Given the description of an element on the screen output the (x, y) to click on. 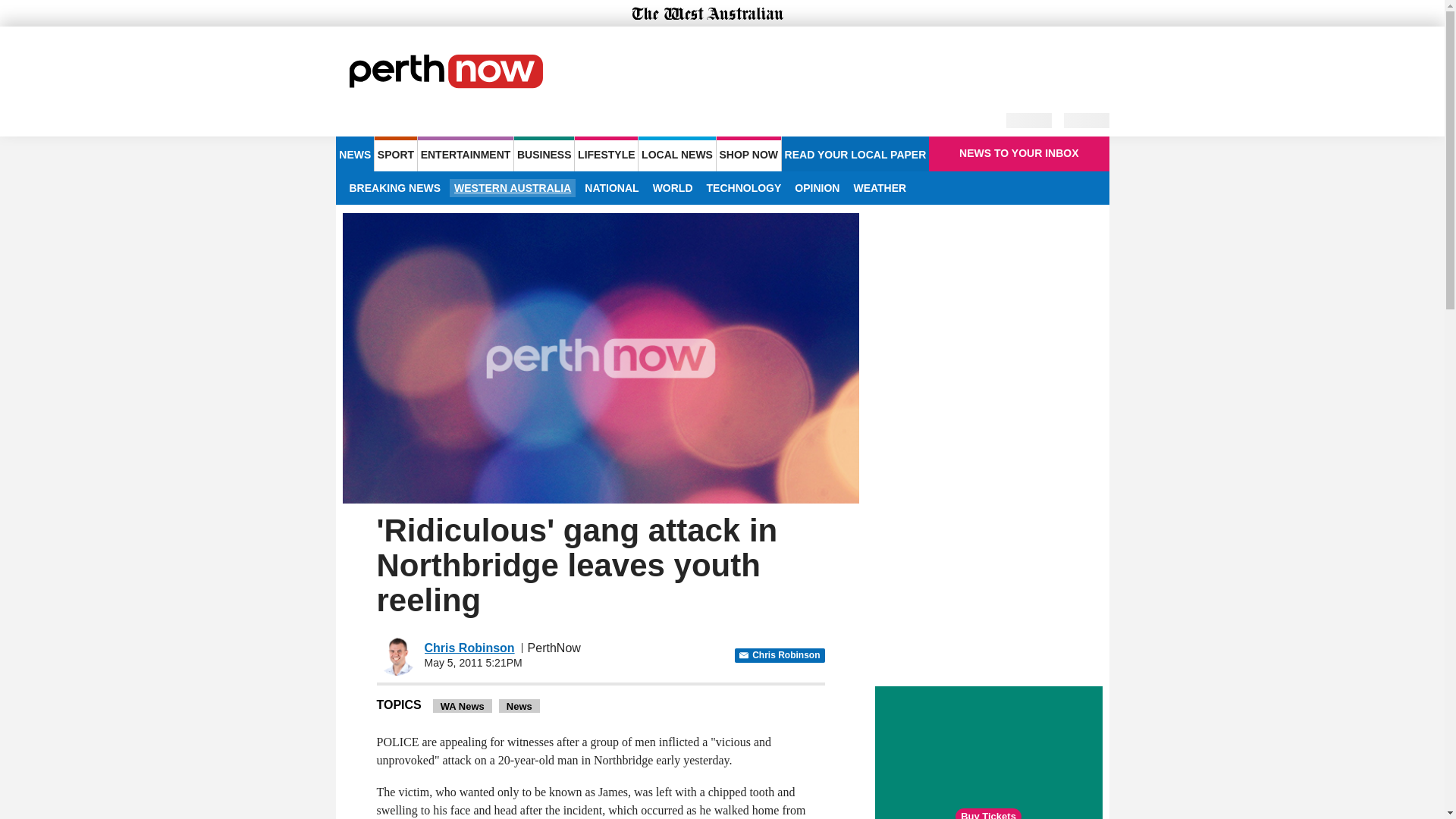
BUSINESS (543, 153)
ENTERTAINMENT (465, 153)
NEWS (354, 153)
SPORT (395, 153)
